Given the description of an element on the screen output the (x, y) to click on. 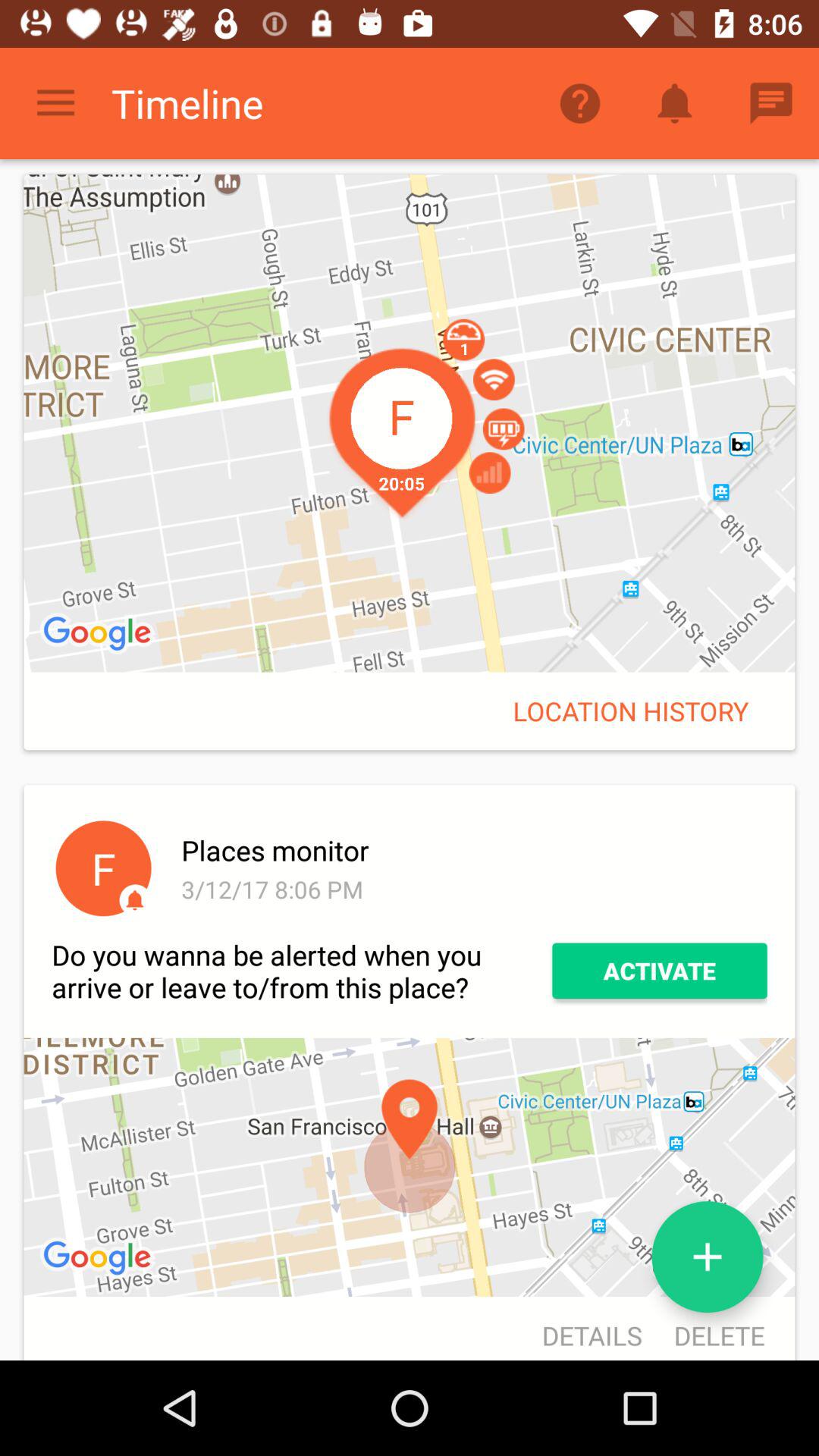
select the item to the right of the do you wanna item (659, 970)
